Given the description of an element on the screen output the (x, y) to click on. 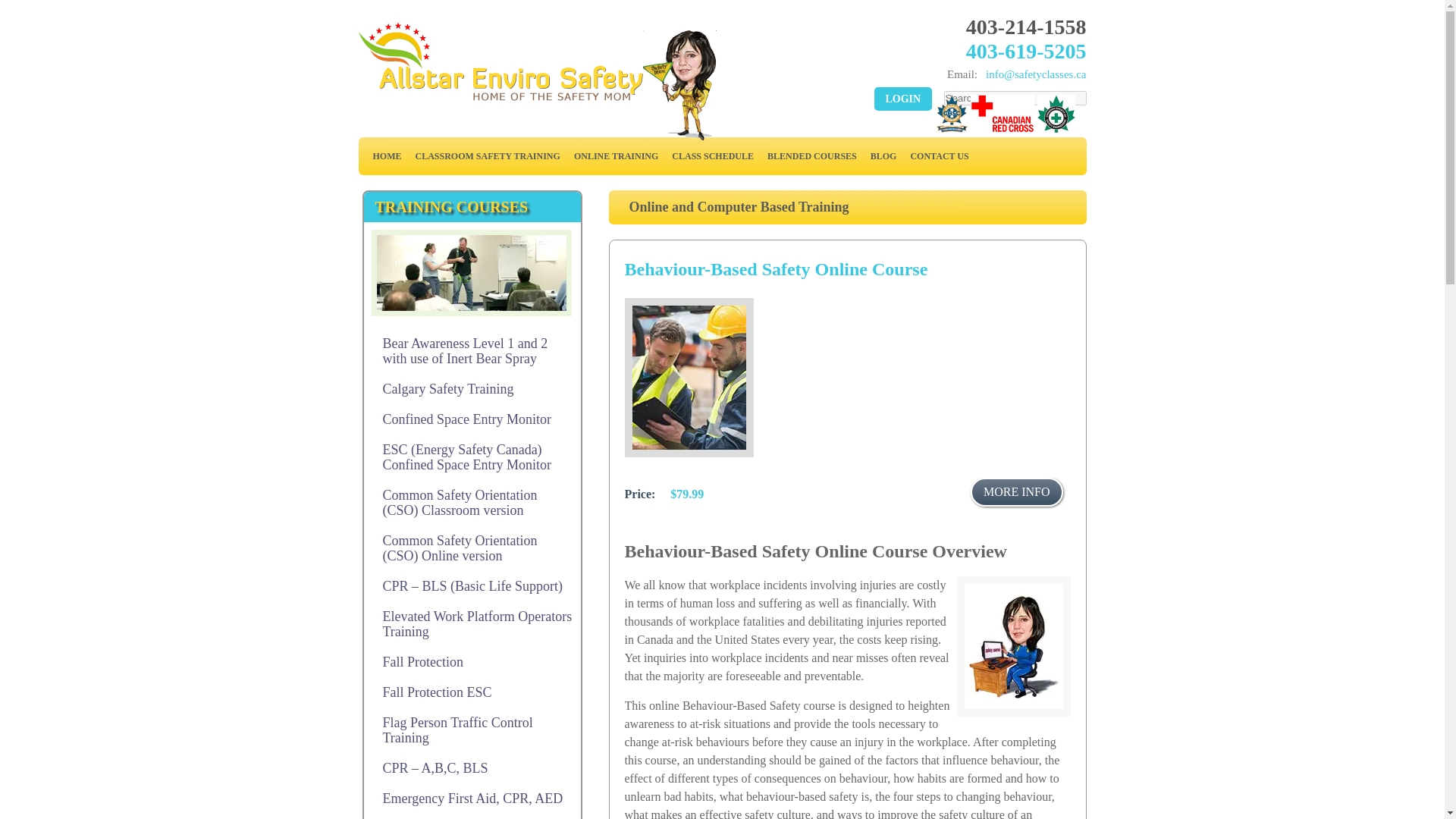
MORE INFO (1016, 491)
BLENDED COURSES (811, 155)
Calgary Safety Training (472, 388)
CONTACT US (938, 155)
HOME (386, 155)
Fall Protection ESC (472, 692)
Elevated Work Platform Operators Training (472, 624)
Bear Awareness Level 1 and 2 with use of Inert Bear Spray (472, 350)
Emergency First Aid, CPR, AED (472, 798)
Standard First Aid (472, 816)
Flag Person Traffic Control Training (472, 729)
CLASS SCHEDULE (712, 155)
Fall Protection (472, 662)
LOGIN (902, 98)
ONLINE TRAINING (616, 155)
